Given the description of an element on the screen output the (x, y) to click on. 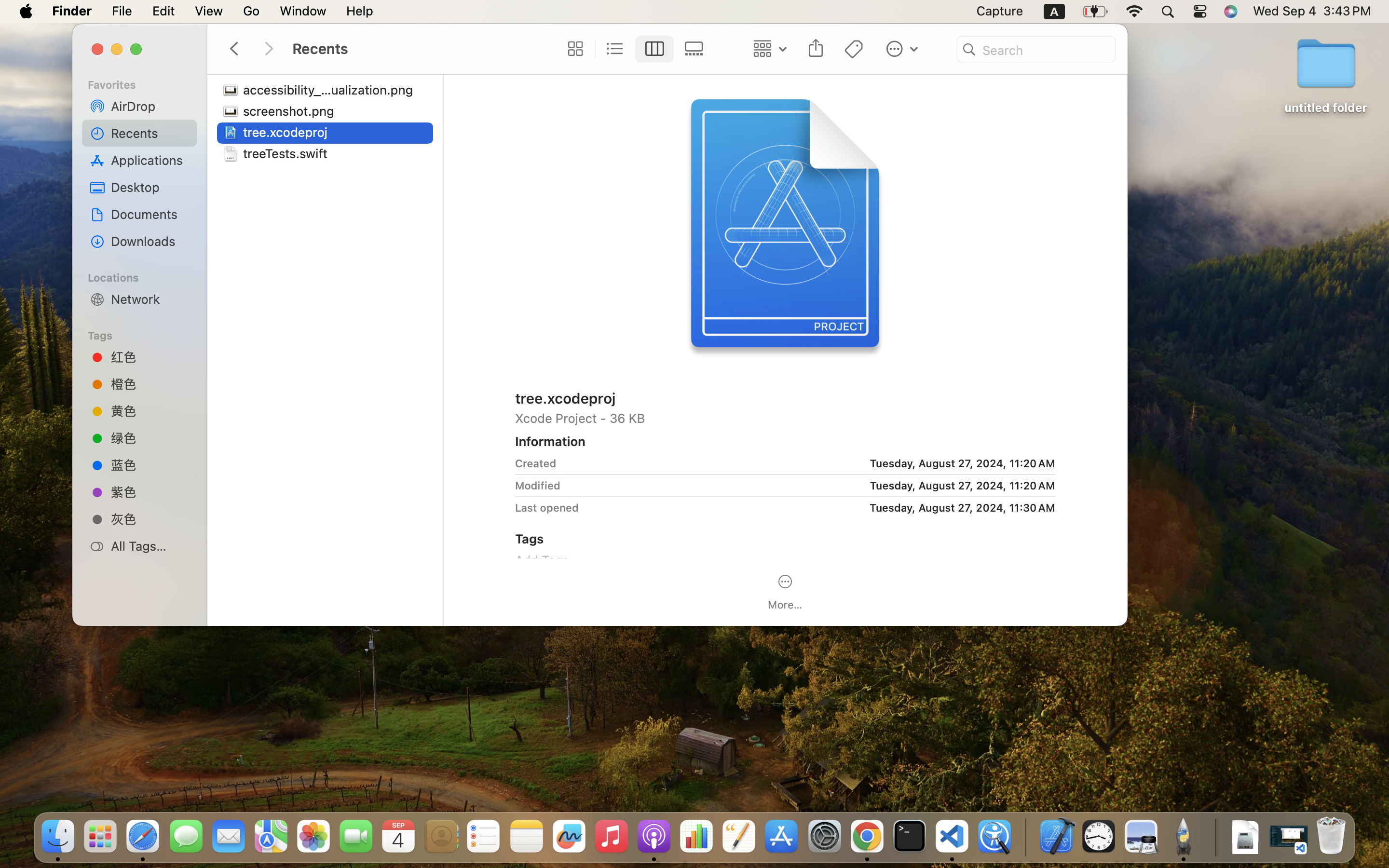
All Tags… Element type: AXStaticText (149, 545)
Favorites Element type: AXStaticText (144, 83)
Documents Element type: AXStaticText (149, 213)
AirDrop Element type: AXStaticText (149, 105)
绿色 Element type: AXStaticText (149, 437)
